Given the description of an element on the screen output the (x, y) to click on. 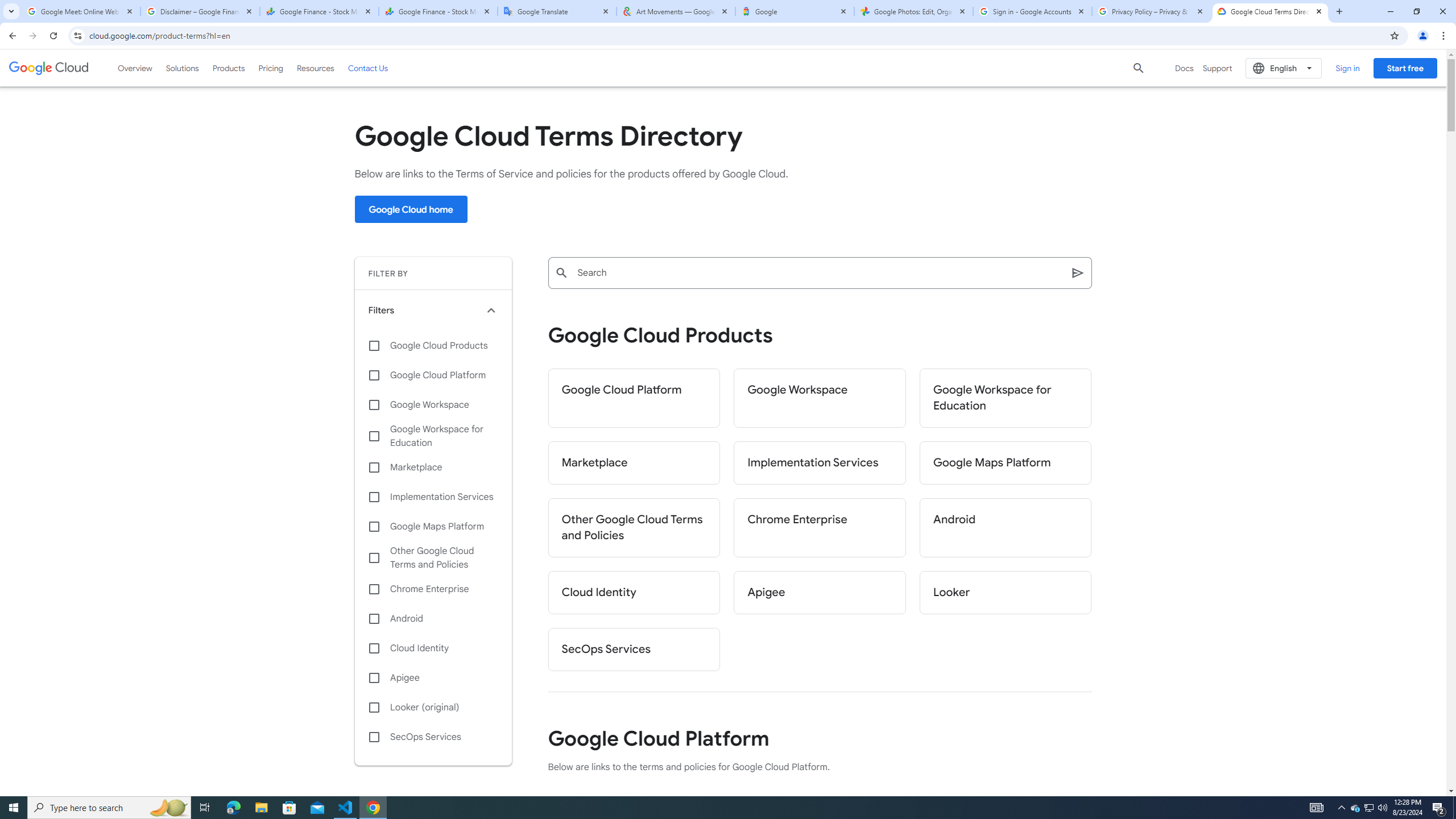
Google Workspace for Education (1005, 397)
Chrome Enterprise (432, 589)
Android (432, 618)
Implementation Services (432, 496)
Google Translate (556, 11)
Google Workspace (432, 404)
